Given the description of an element on the screen output the (x, y) to click on. 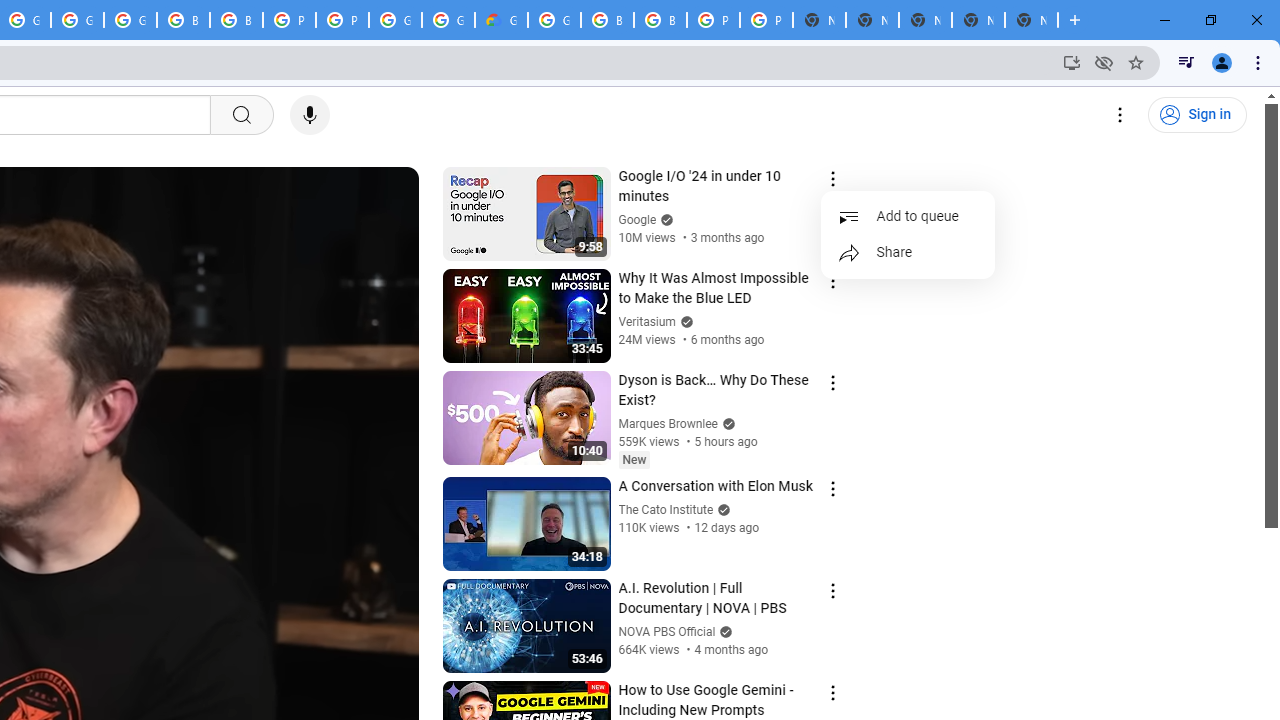
New (634, 459)
Action menu (832, 692)
Verified (724, 631)
New Tab (1031, 20)
Share (907, 252)
Browse Chrome as a guest - Computer - Google Chrome Help (607, 20)
Google Cloud Estimate Summary (501, 20)
Google Cloud Platform (395, 20)
